Given the description of an element on the screen output the (x, y) to click on. 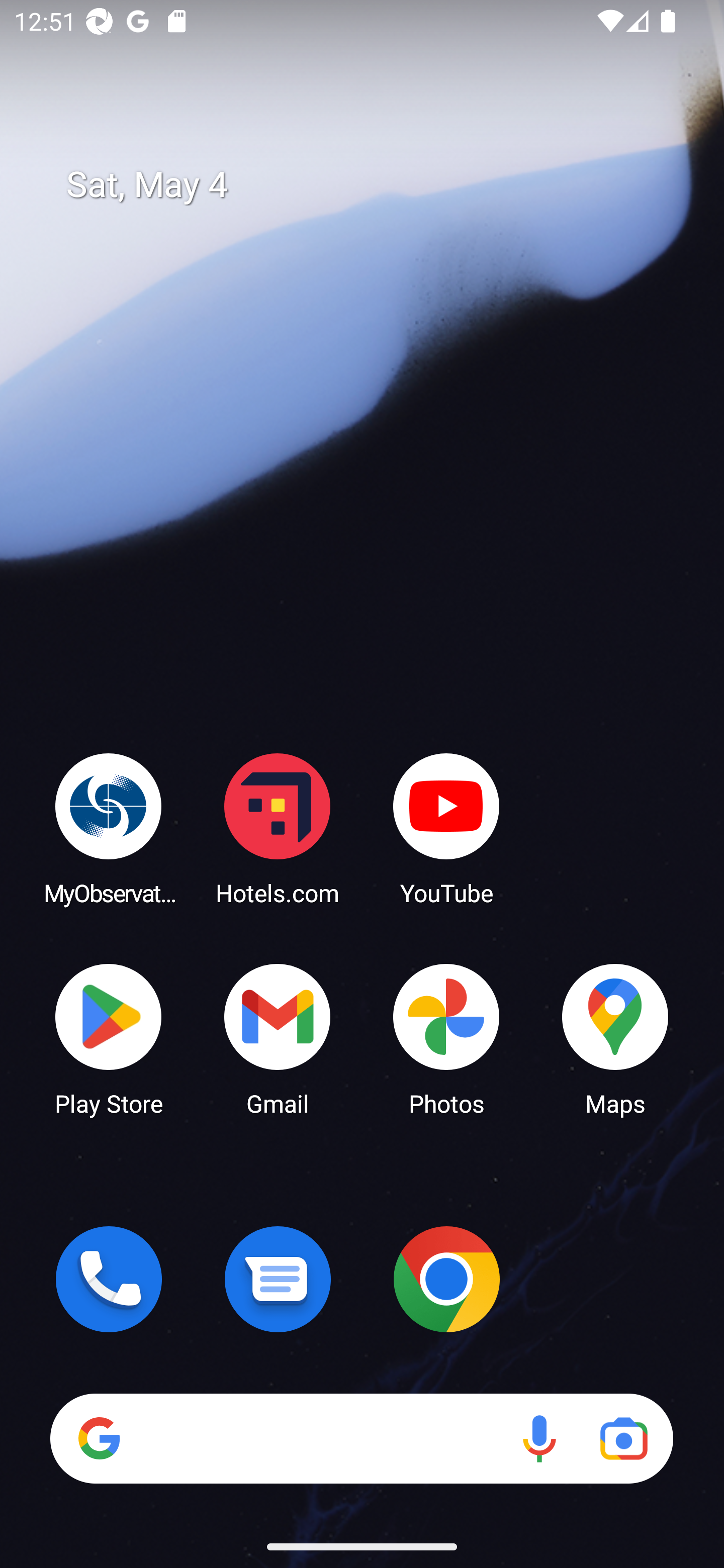
Sat, May 4 (375, 184)
MyObservatory (108, 828)
Hotels.com (277, 828)
YouTube (445, 828)
Play Store (108, 1038)
Gmail (277, 1038)
Photos (445, 1038)
Maps (615, 1038)
Phone (108, 1279)
Messages (277, 1279)
Chrome (446, 1279)
Search Voice search Google Lens (361, 1438)
Voice search (539, 1438)
Google Lens (623, 1438)
